Given the description of an element on the screen output the (x, y) to click on. 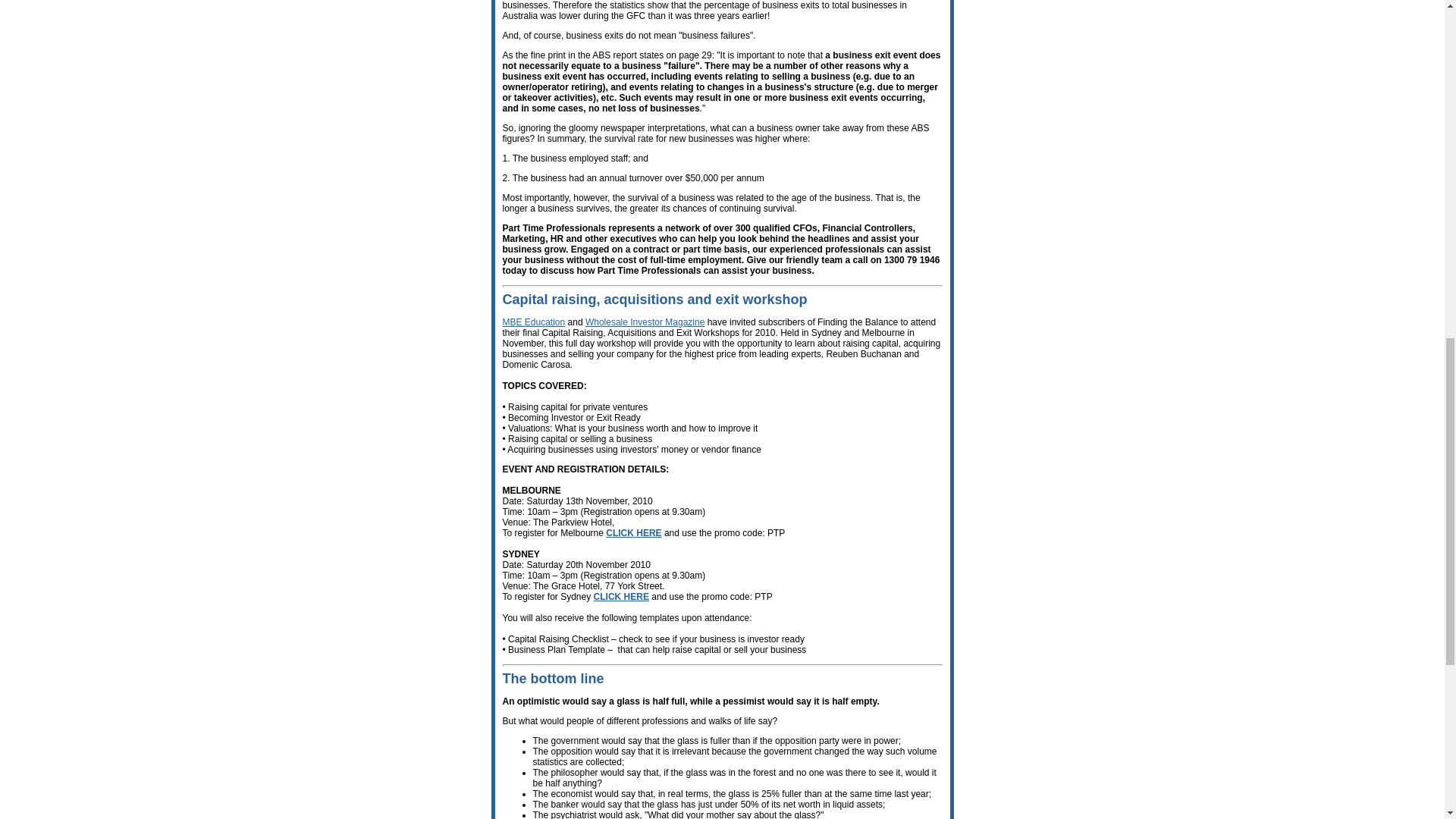
CLICK HERE (633, 532)
MBE Education (533, 321)
Wholesale Investor Magazine (644, 321)
CLICK HERE (621, 596)
